Given the description of an element on the screen output the (x, y) to click on. 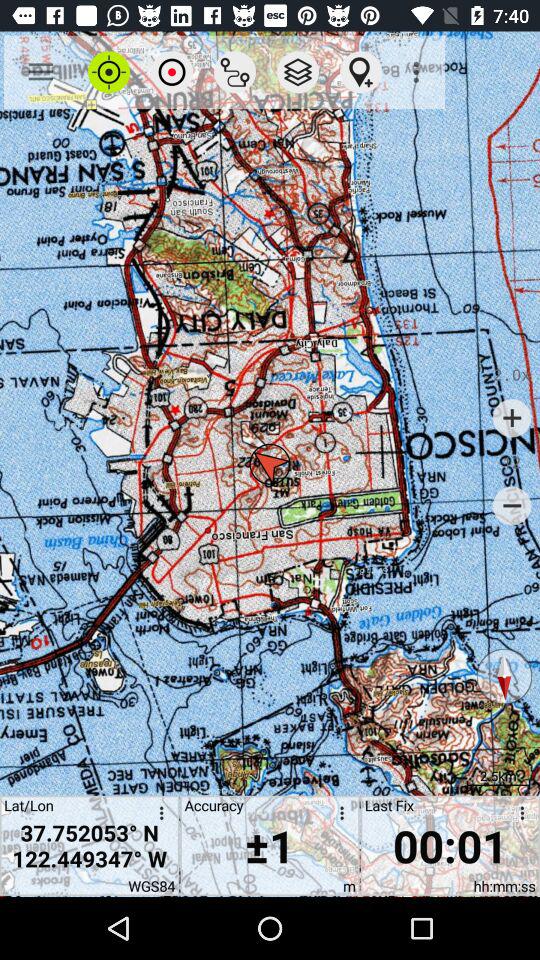
open accuracy options (338, 816)
